Given the description of an element on the screen output the (x, y) to click on. 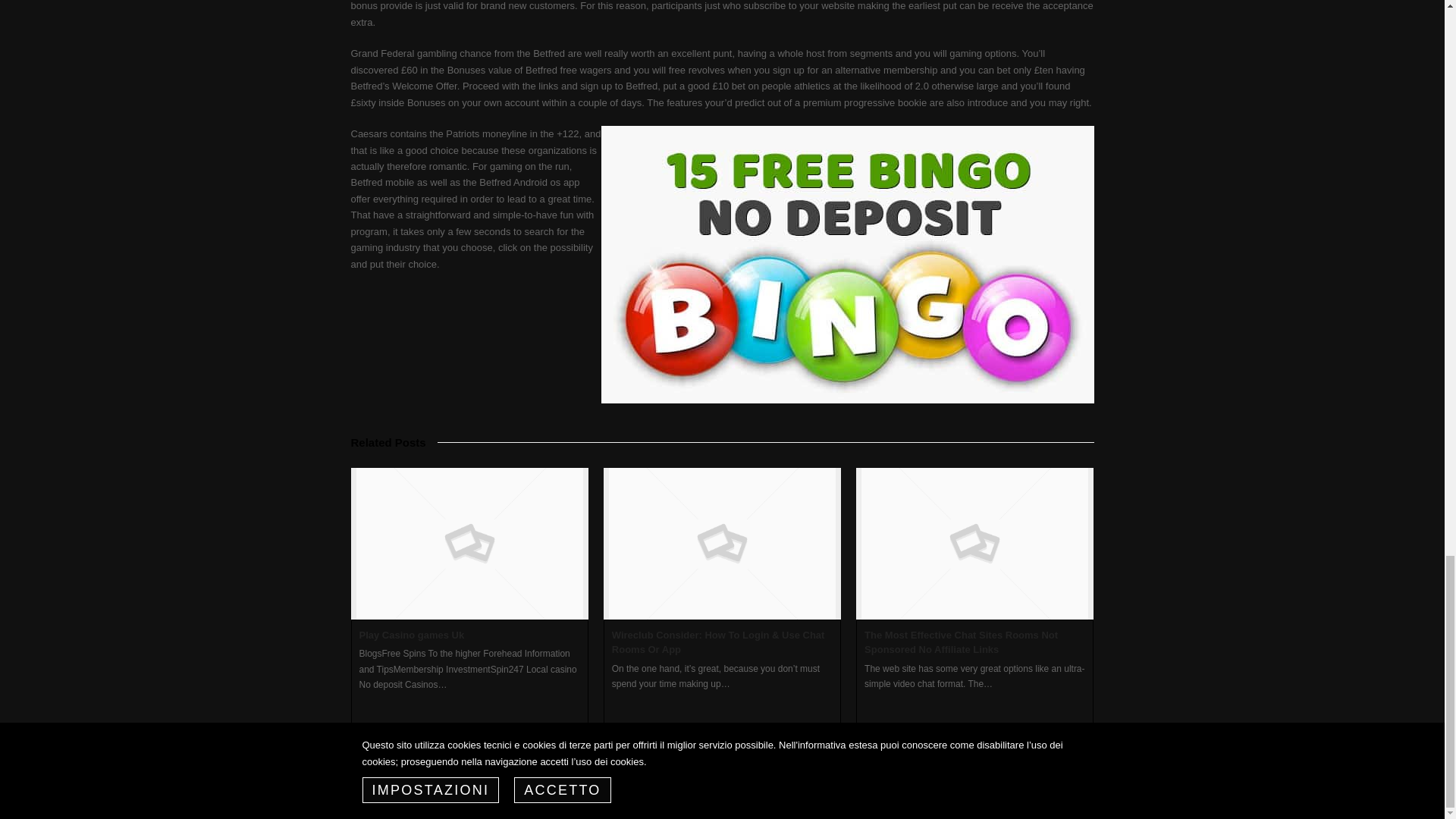
Area riservata (1020, 796)
Play Casino games Uk (469, 543)
Cookie e policy (947, 796)
Play Casino games Uk (411, 634)
Credits (1079, 796)
Lavora con noi (871, 796)
Play Casino games Uk (411, 634)
